Given the description of an element on the screen output the (x, y) to click on. 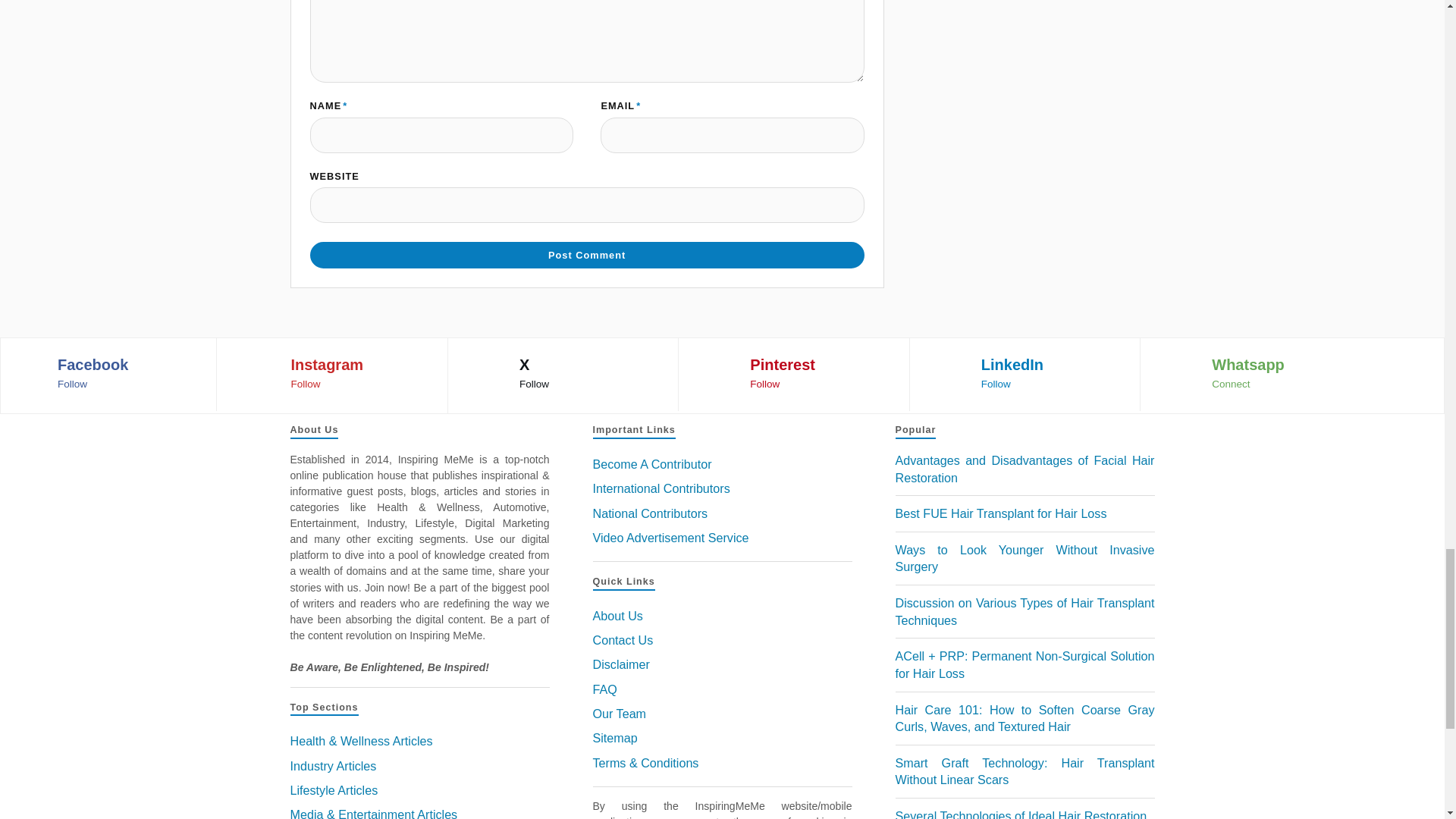
Post Comment (585, 254)
